Given the description of an element on the screen output the (x, y) to click on. 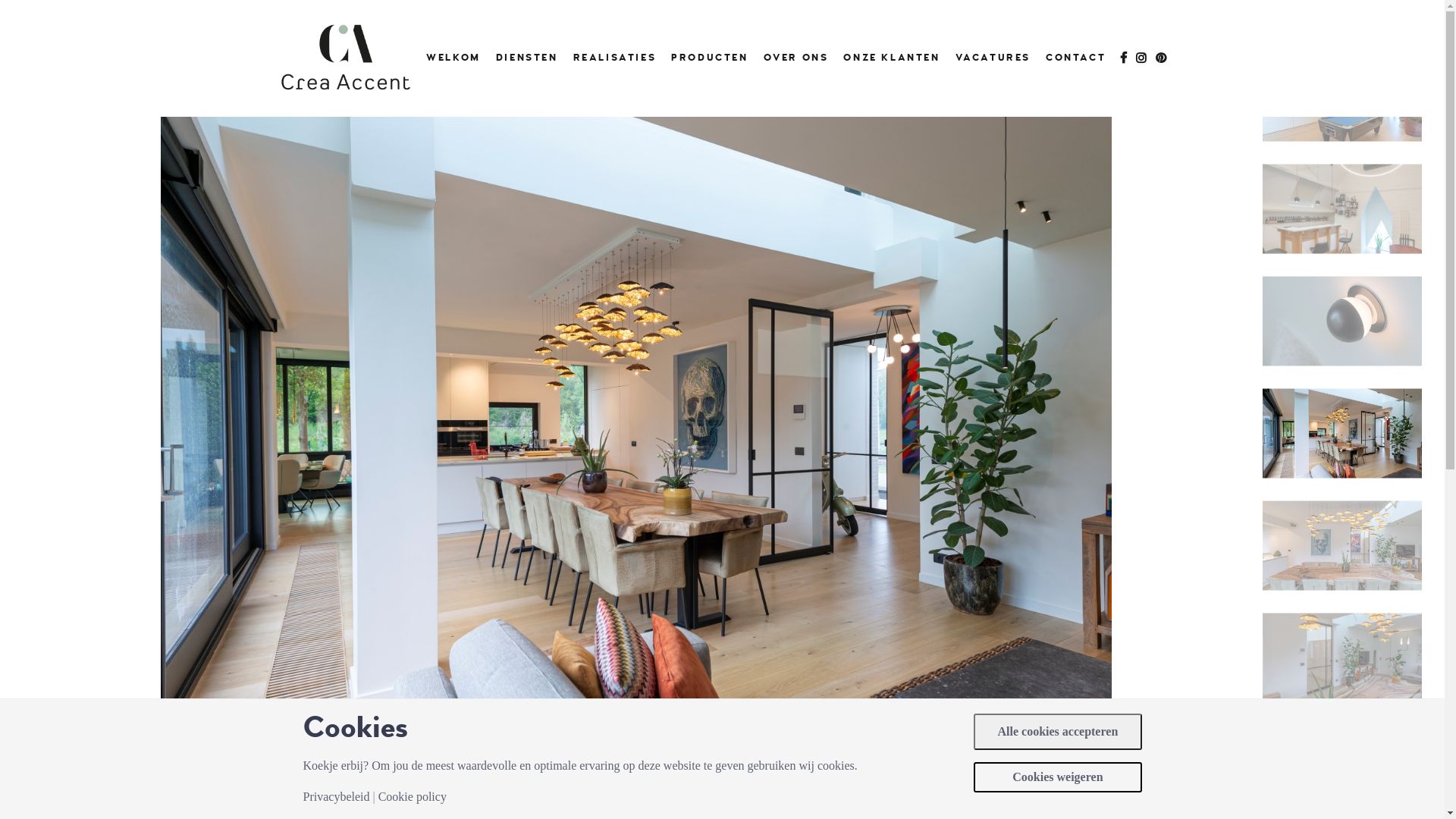
VACATURES Element type: text (992, 57)
CONTACT Element type: text (1075, 57)
PRODUCTEN Element type: text (709, 57)
Alle cookies accepteren Element type: text (1057, 731)
ONZE KLANTEN Element type: text (891, 57)
Cookie policy Element type: text (412, 796)
DIENSTEN Element type: text (526, 57)
OVER ONS Element type: text (796, 57)
Privacybeleid Element type: text (336, 796)
WELKOM Element type: text (453, 57)
REALISATIES Element type: text (614, 57)
Cookies weigeren Element type: text (1057, 777)
